Given the description of an element on the screen output the (x, y) to click on. 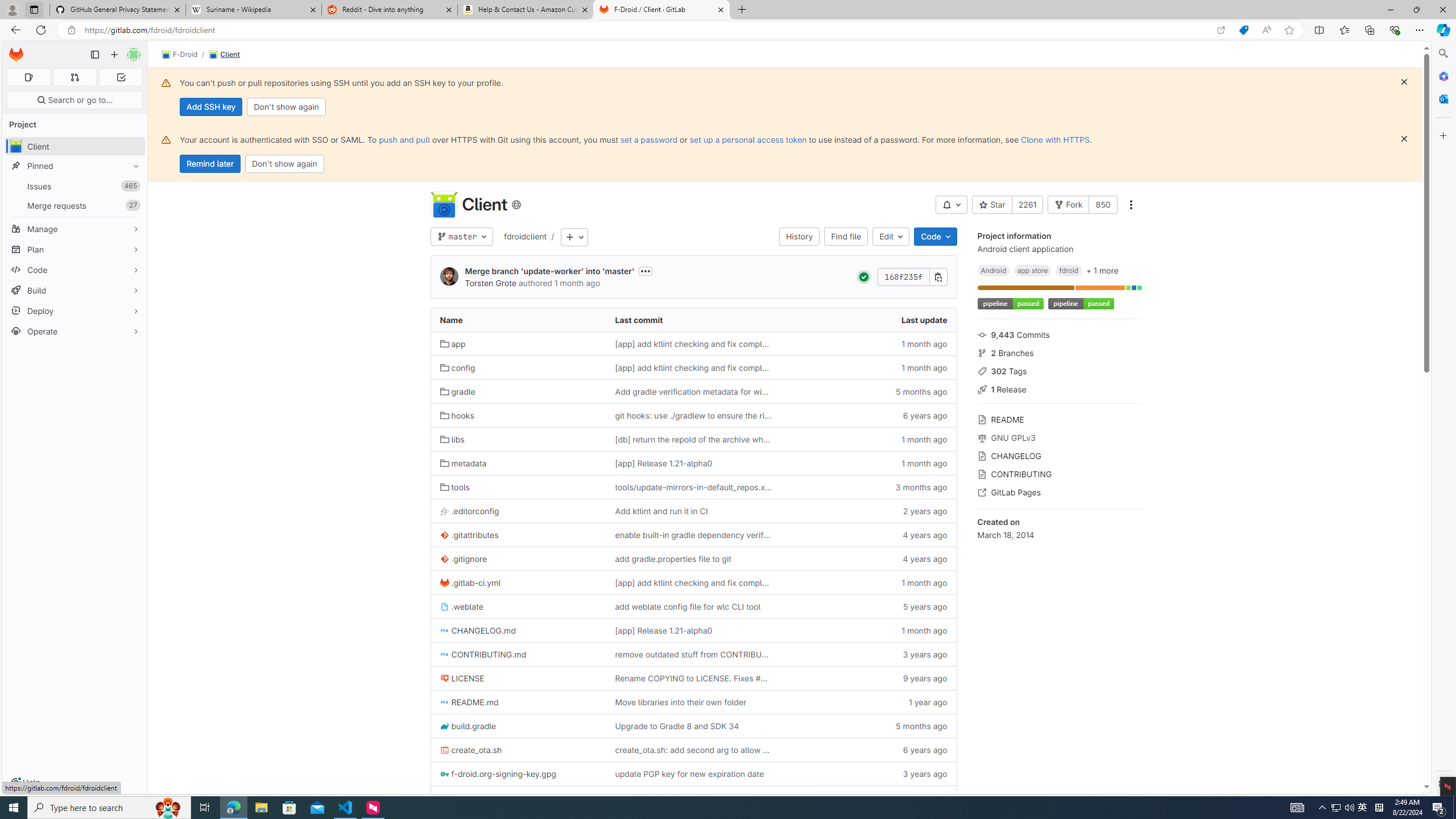
GNU GPLv3 (1058, 437)
Project badge (1080, 303)
Class: s16 gl-alert-icon gl-alert-icon-no-title (165, 139)
9,443 Commits (1058, 333)
hooks (456, 415)
Move libraries into their own folder (693, 701)
[app] add ktlint checking and fix complaints it has (692, 582)
app (517, 343)
create_ota.sh (517, 749)
6 years ago (868, 749)
To-Do list 0 (120, 76)
avatar (15, 146)
